Given the description of an element on the screen output the (x, y) to click on. 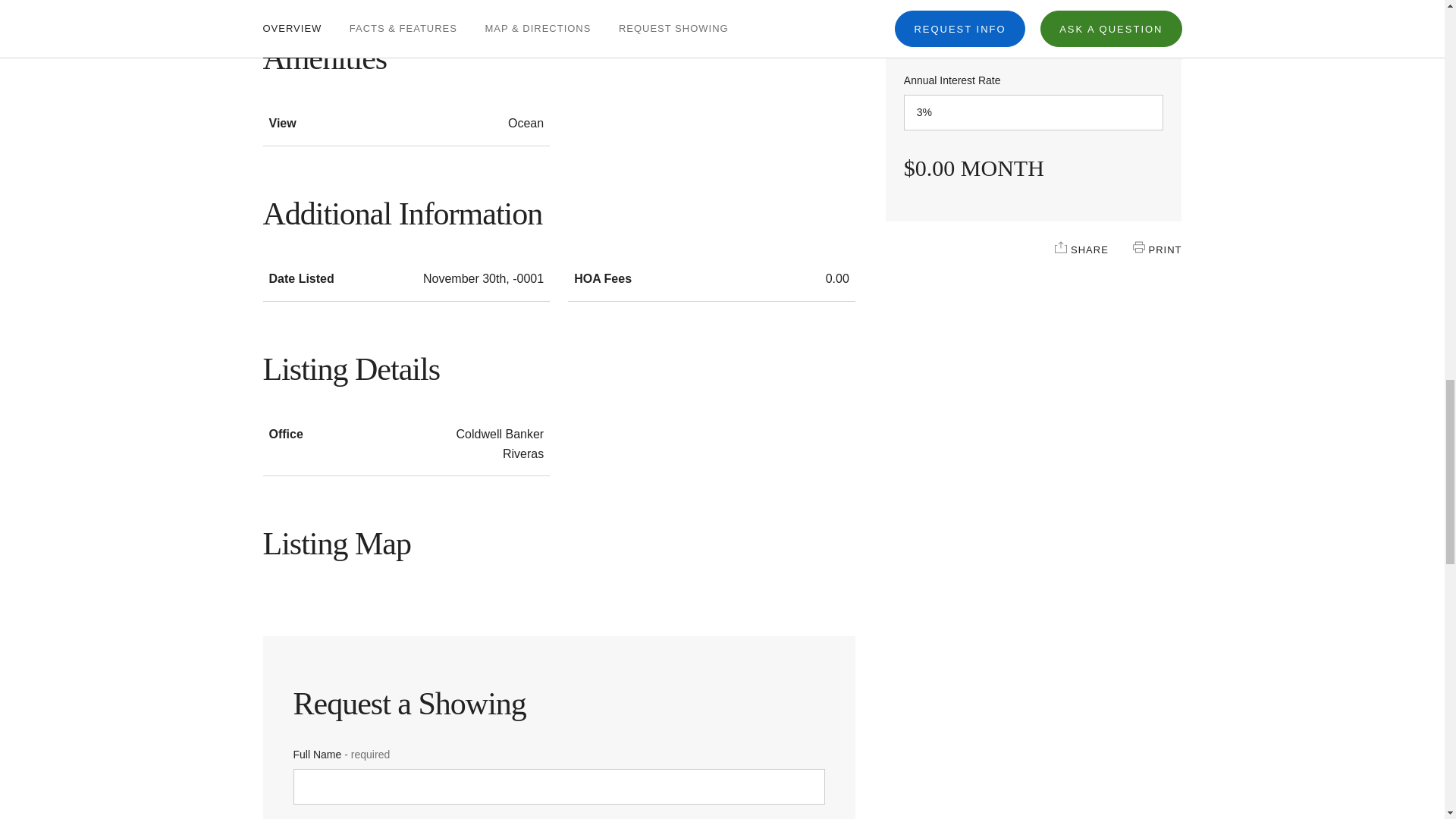
PRINT (1138, 246)
30 Years (1033, 30)
SHARE (1060, 246)
